Given the description of an element on the screen output the (x, y) to click on. 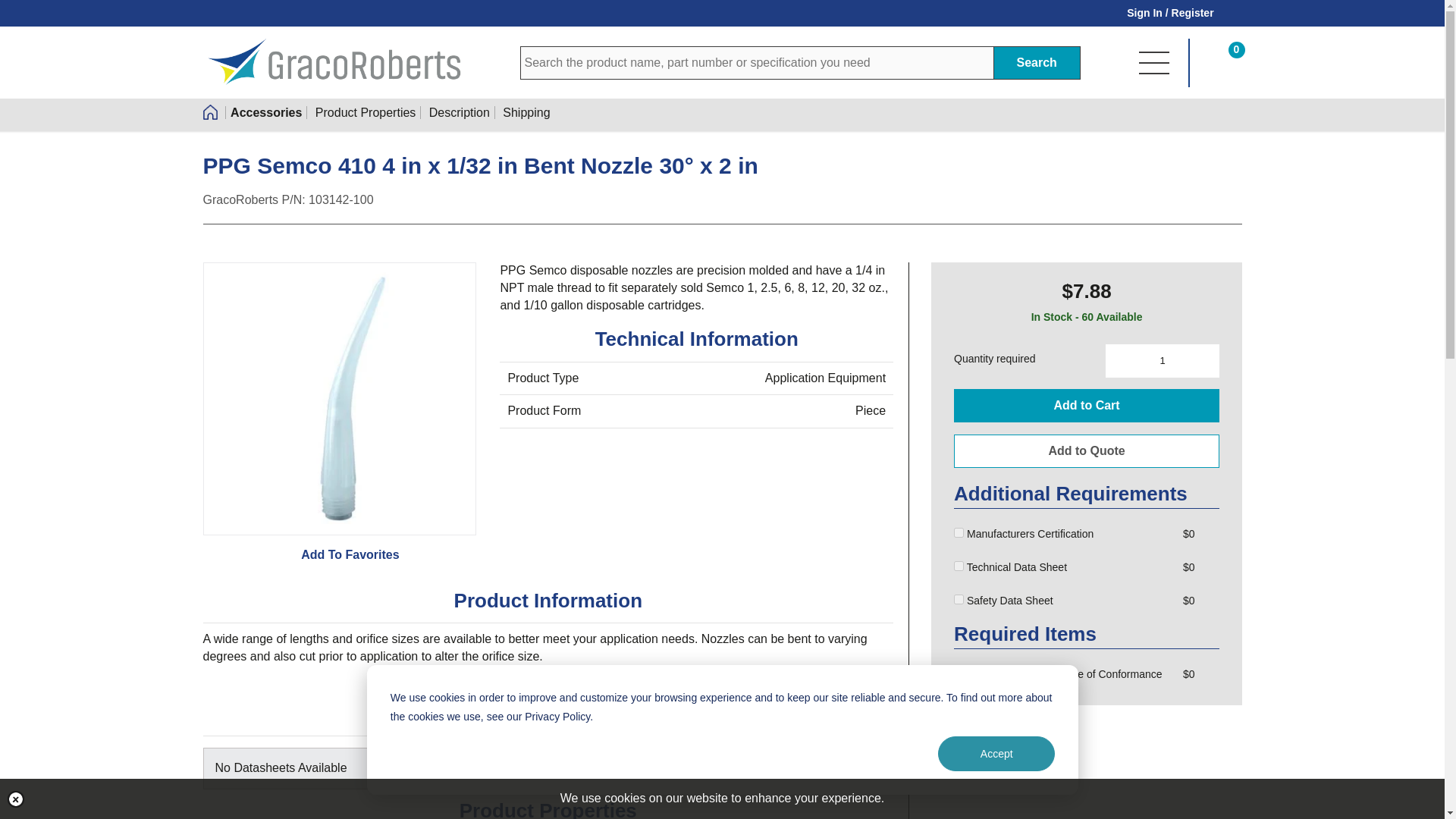
1 (958, 673)
Add to Quote (1086, 450)
1 (958, 532)
1 (958, 565)
1 (958, 599)
1 (1162, 360)
